Given the description of an element on the screen output the (x, y) to click on. 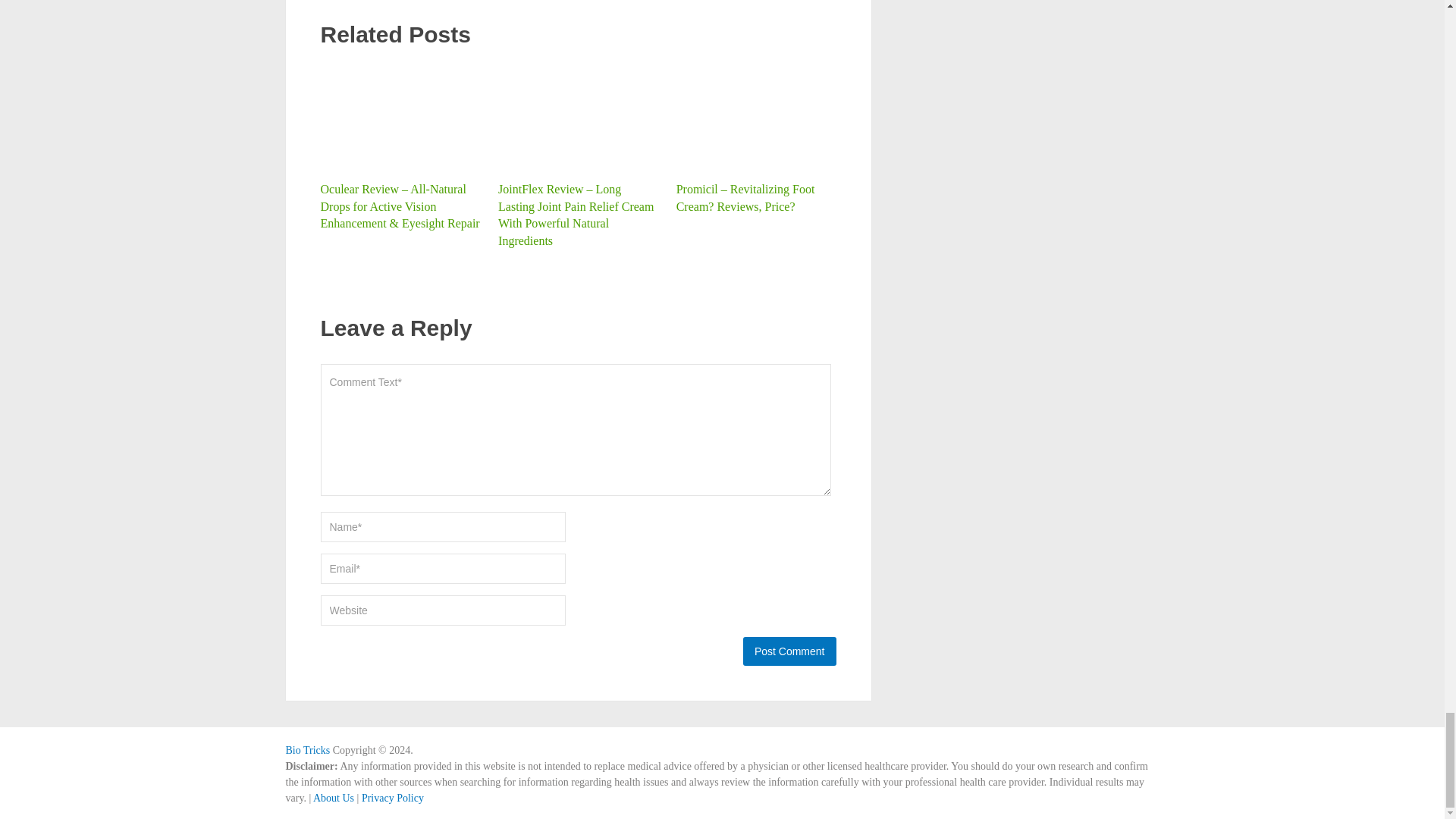
Post Comment (788, 651)
